Given the description of an element on the screen output the (x, y) to click on. 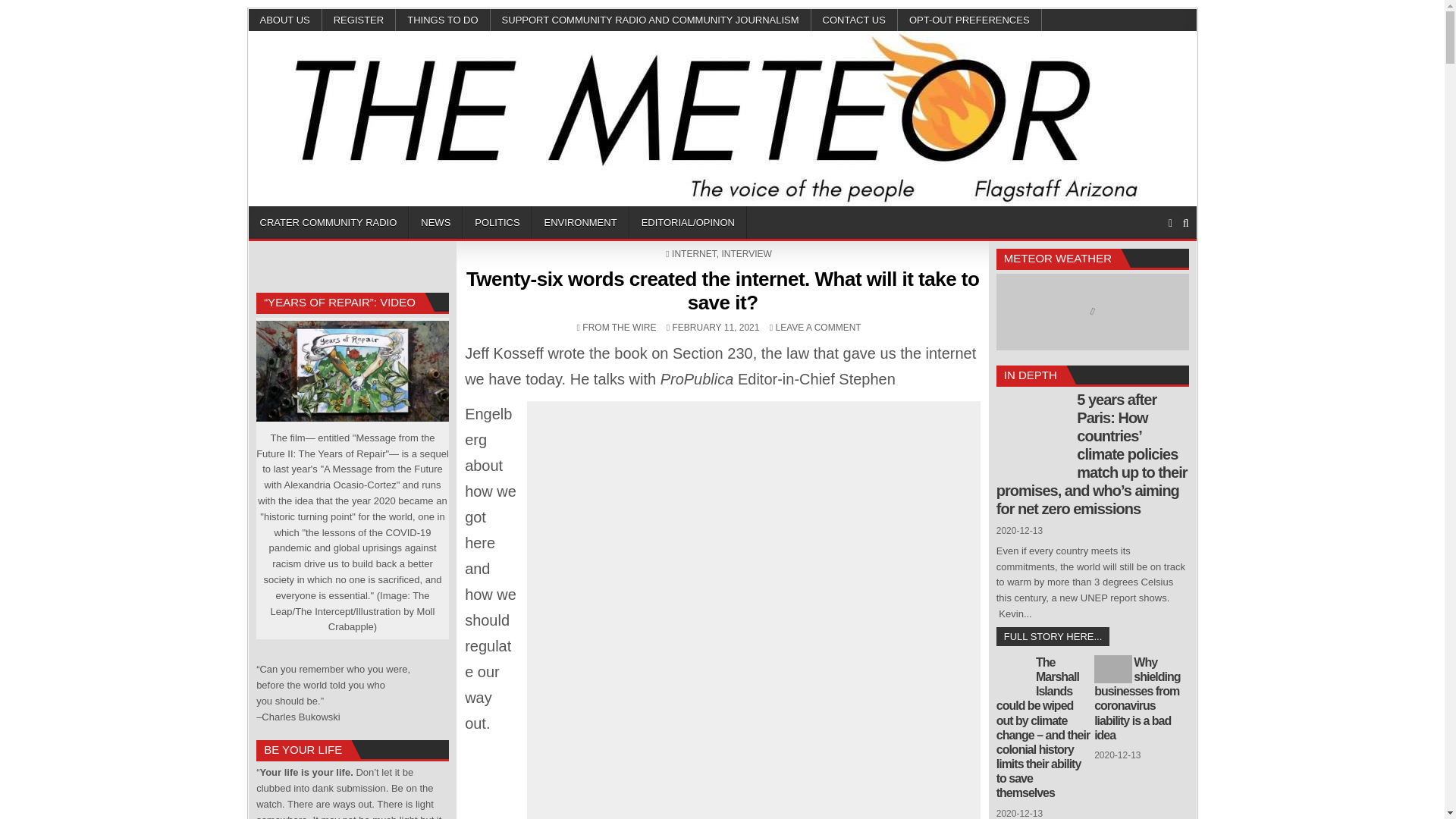
INTERNET (693, 253)
INTERVIEW (745, 253)
CRATER COMMUNITY RADIO (328, 222)
ABOUT US (284, 20)
FROM THE WIRE (619, 327)
THINGS TO DO (442, 20)
OPT-OUT PREFERENCES (970, 20)
NEWS (436, 222)
CONTACT US (854, 20)
ENVIRONMENT (580, 222)
